Given the description of an element on the screen output the (x, y) to click on. 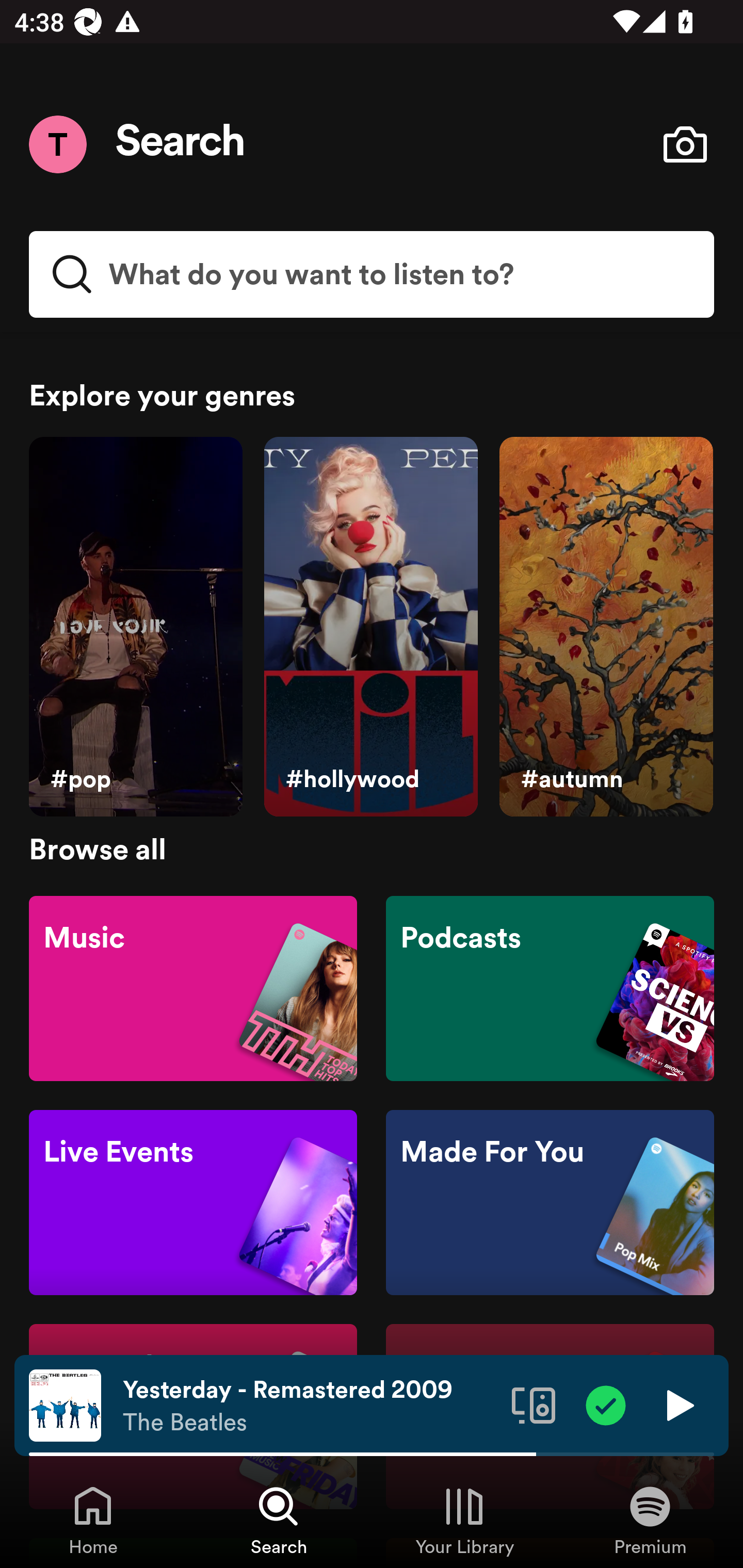
Menu (57, 144)
Open camera (685, 145)
Search (180, 144)
#pop (135, 626)
#hollywood (370, 626)
#autumn (606, 626)
Music (192, 987)
Podcasts (549, 987)
Live Events (192, 1202)
Made For You (549, 1202)
Yesterday - Remastered 2009 The Beatles (309, 1405)
The cover art of the currently playing track (64, 1404)
Connect to a device. Opens the devices menu (533, 1404)
Item added (605, 1404)
Play (677, 1404)
Home, Tab 1 of 4 Home Home (92, 1519)
Search, Tab 2 of 4 Search Search (278, 1519)
Your Library, Tab 3 of 4 Your Library Your Library (464, 1519)
Premium, Tab 4 of 4 Premium Premium (650, 1519)
